Given the description of an element on the screen output the (x, y) to click on. 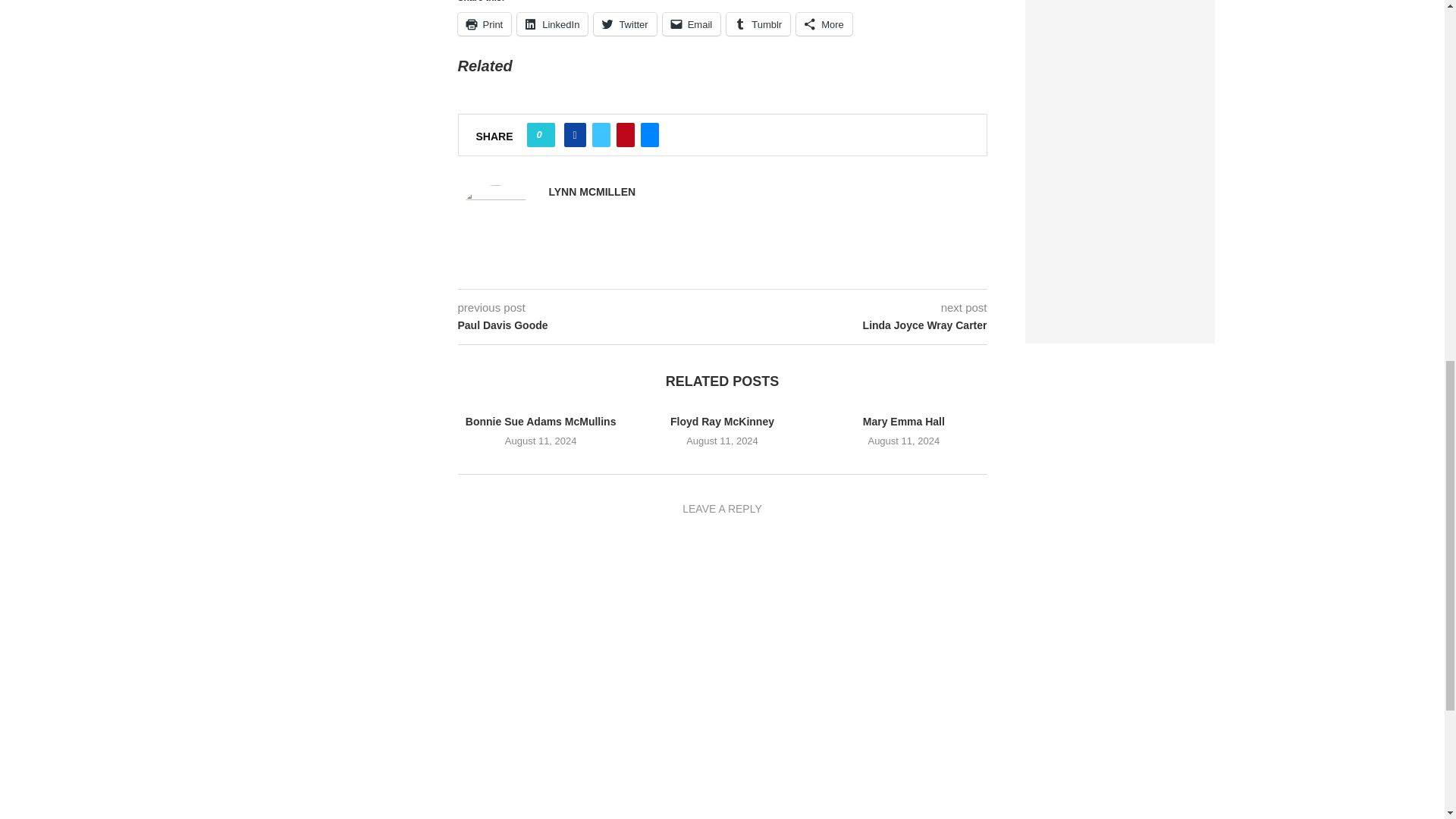
Click to share on Twitter (625, 24)
Print (485, 24)
More (823, 24)
Linda Joyce Wray Carter (854, 325)
Click to print (485, 24)
Author Lynn McMillen (592, 192)
Click to share on Tumblr (758, 24)
Click to share on LinkedIn (552, 24)
Paul Davis Goode (590, 325)
Twitter (625, 24)
